Given the description of an element on the screen output the (x, y) to click on. 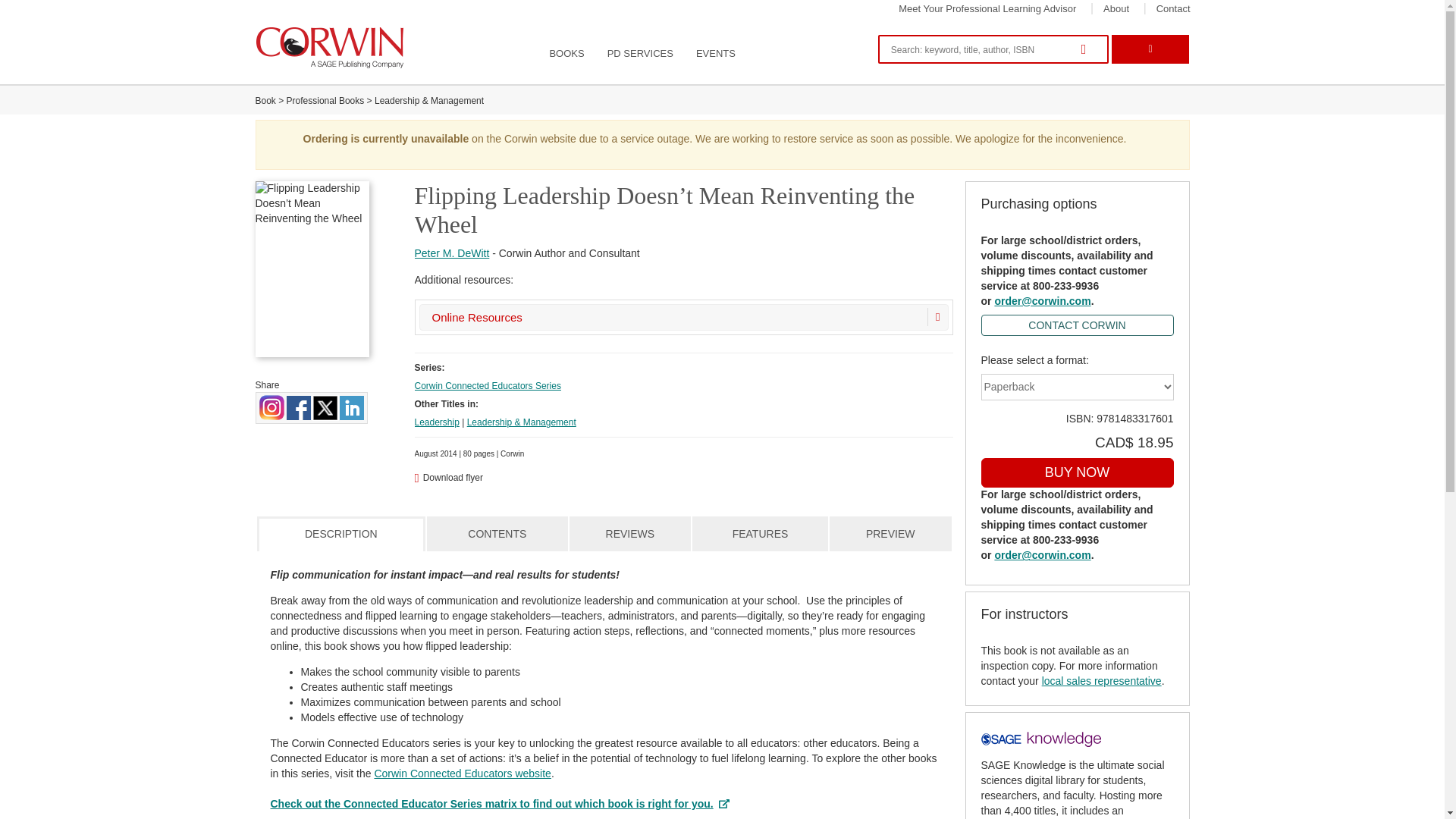
Buy now (1077, 472)
Search (1087, 50)
Contact (1173, 8)
About (1116, 8)
Home (330, 47)
BOOKS (566, 53)
Meet Your Professional Learning Advisor (986, 8)
